Given the description of an element on the screen output the (x, y) to click on. 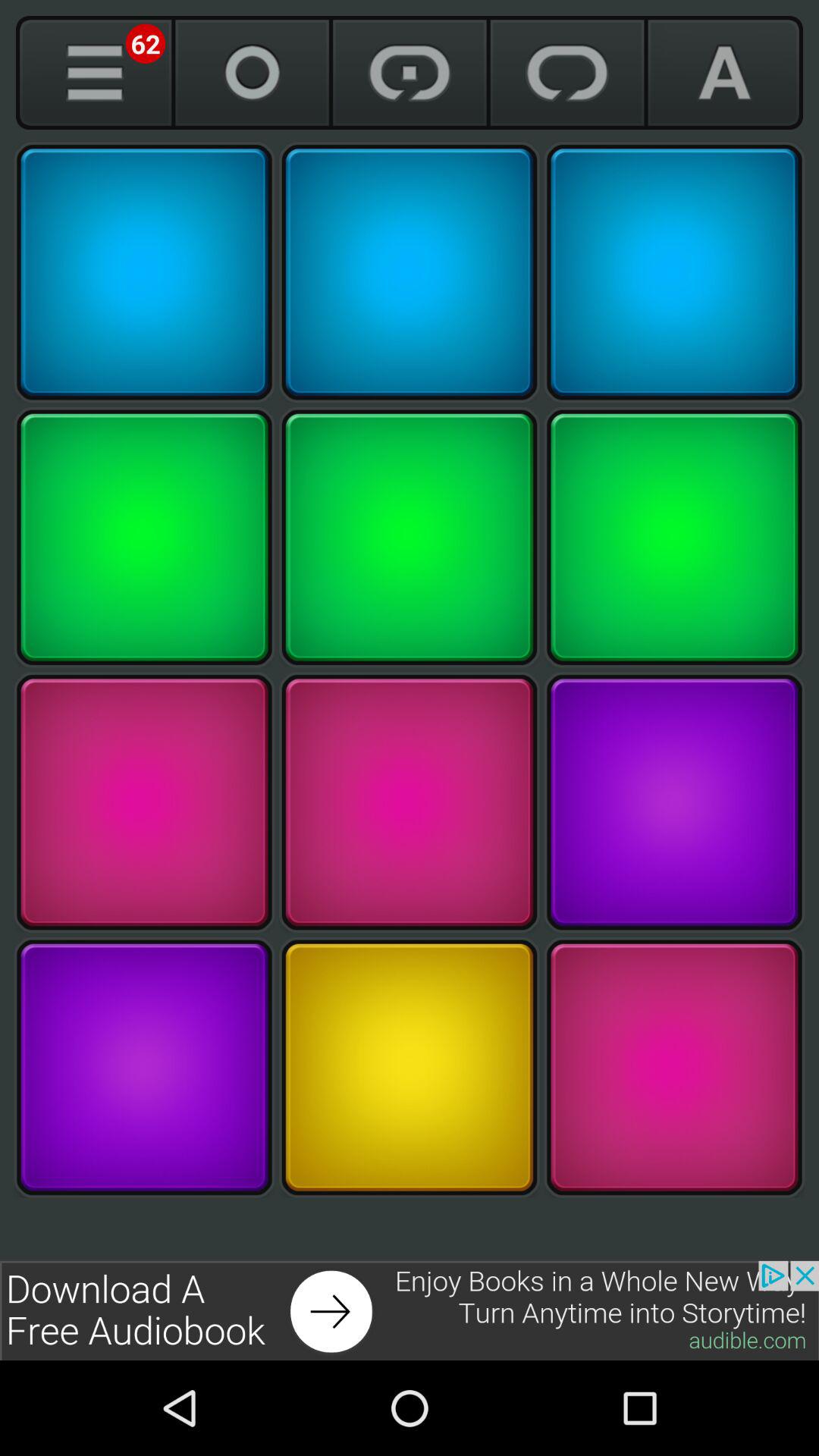
font selection (724, 72)
